Given the description of an element on the screen output the (x, y) to click on. 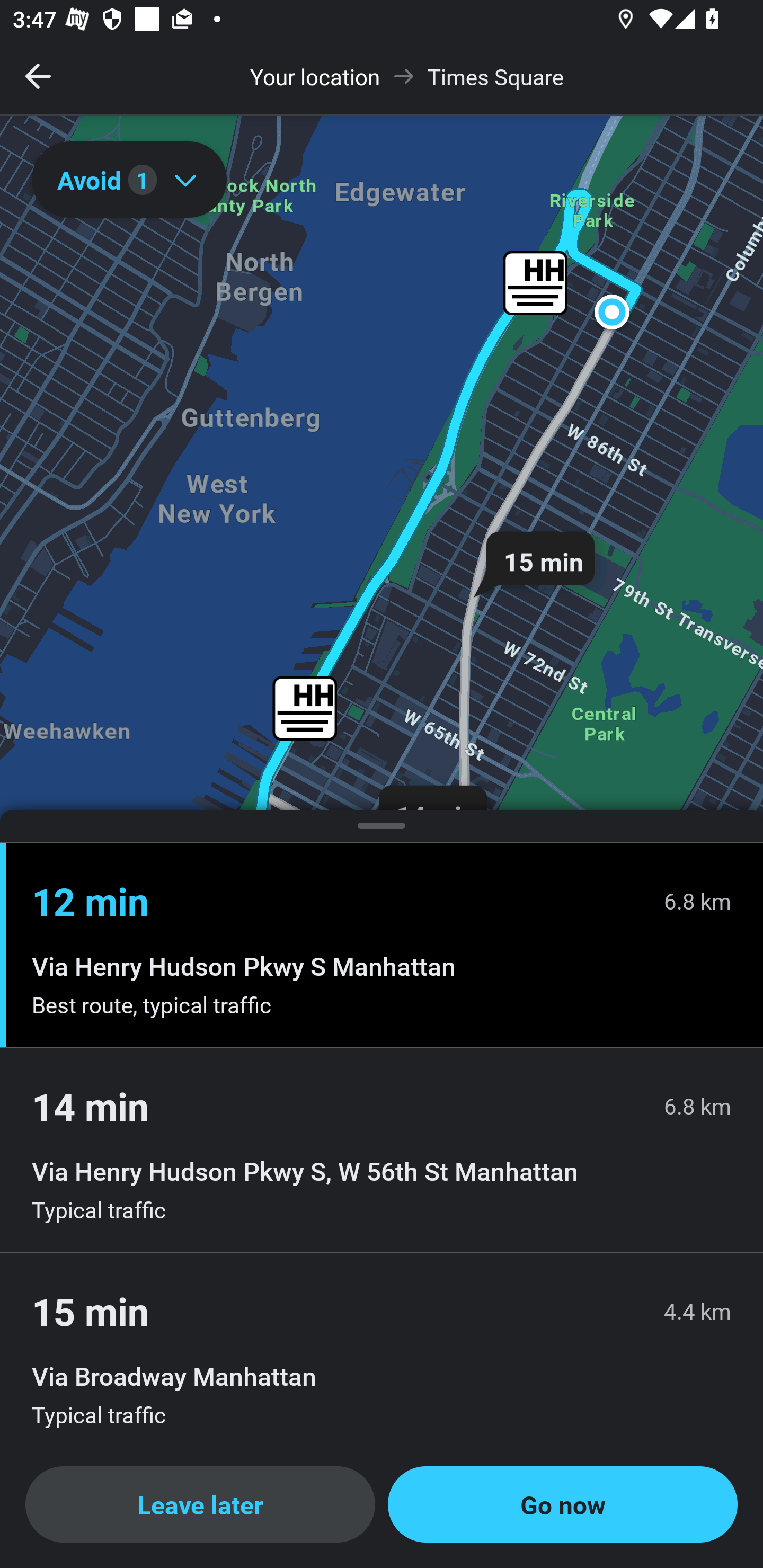
Leave later (200, 1504)
Go now (562, 1504)
